Given the description of an element on the screen output the (x, y) to click on. 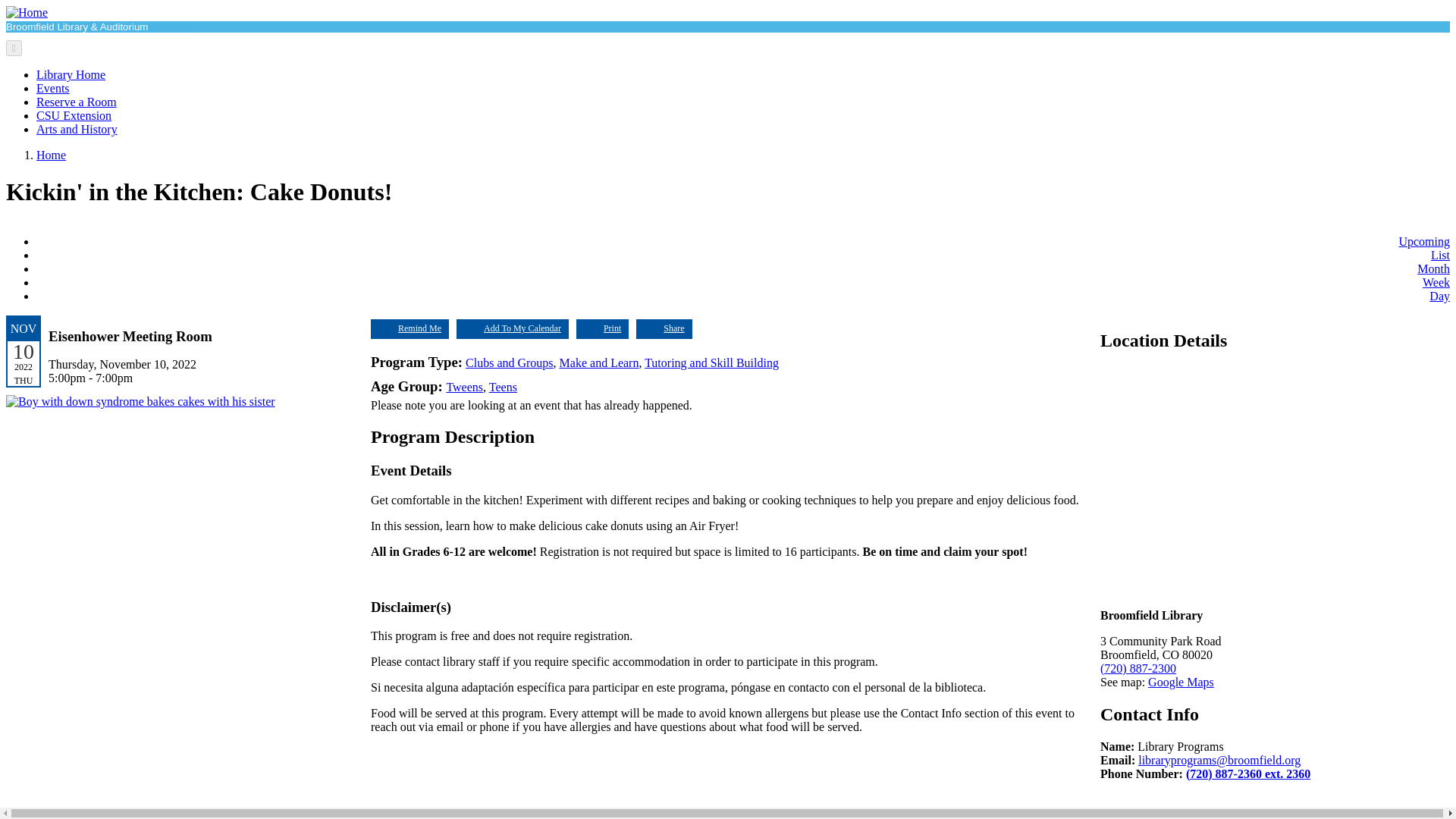
Month (1433, 268)
Day (1439, 295)
Reserve a Room (76, 101)
Teens (502, 386)
Week (1436, 282)
Library Home (70, 74)
CSU Extension (74, 115)
Arts and History (76, 128)
Home (50, 154)
Toggle Navigation (13, 48)
